Given the description of an element on the screen output the (x, y) to click on. 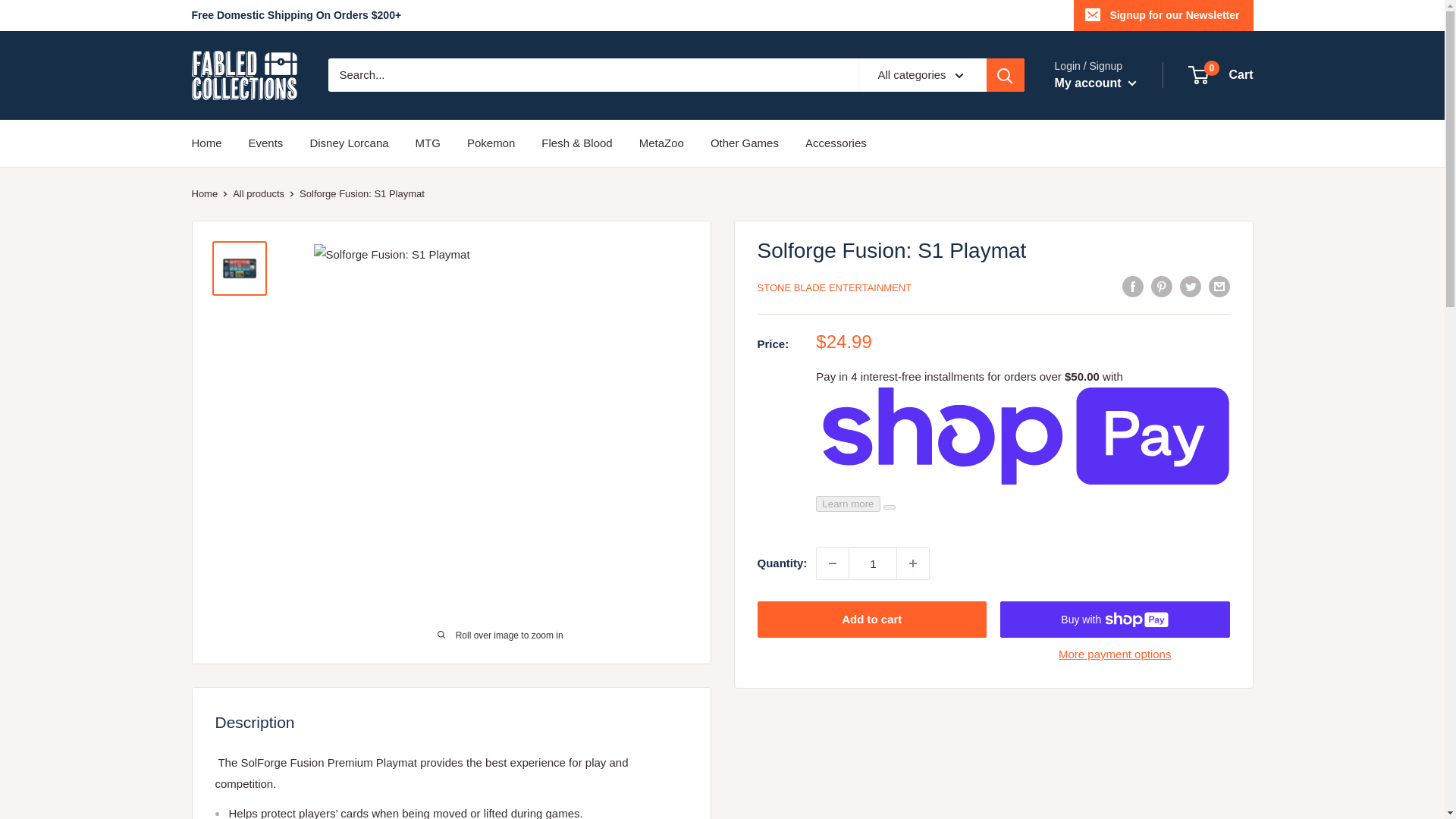
Home (205, 142)
Disney Lorcana (348, 142)
MTG (427, 142)
Increase quantity by 1 (912, 563)
Pokemon (1220, 74)
1 (491, 142)
Decrease quantity by 1 (872, 563)
Events (832, 563)
Signup for our Newsletter (265, 142)
Fabled Collections (1163, 15)
My account (243, 74)
